Given the description of an element on the screen output the (x, y) to click on. 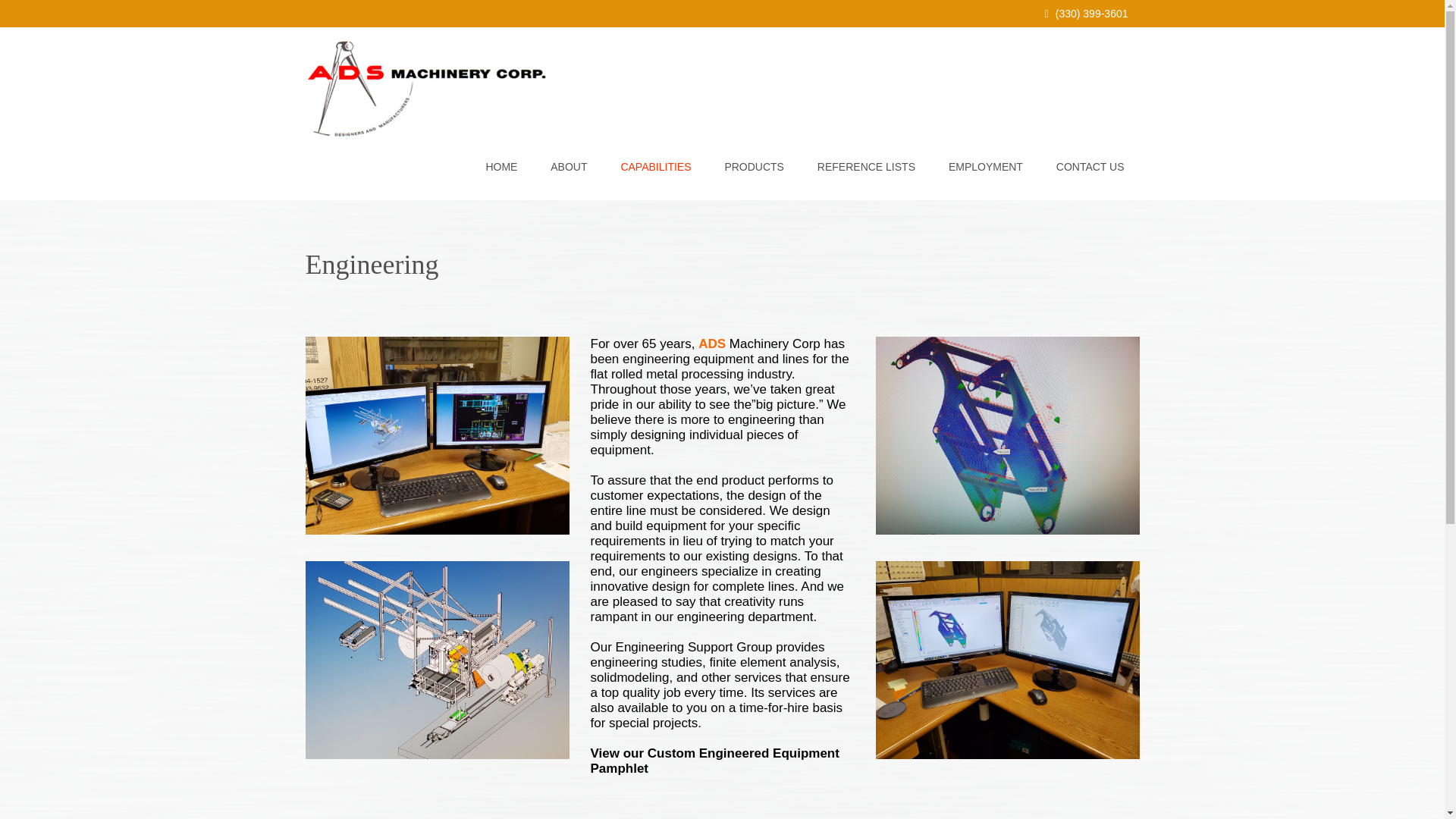
HOME (501, 166)
CAPABILITIES (655, 166)
REFERENCE LISTS (866, 166)
ABOUT (568, 166)
Custom Engineered Equipment Pamphlet (713, 760)
CONTACT US (1090, 166)
EMPLOYMENT (985, 166)
PRODUCTS (754, 166)
